Given the description of an element on the screen output the (x, y) to click on. 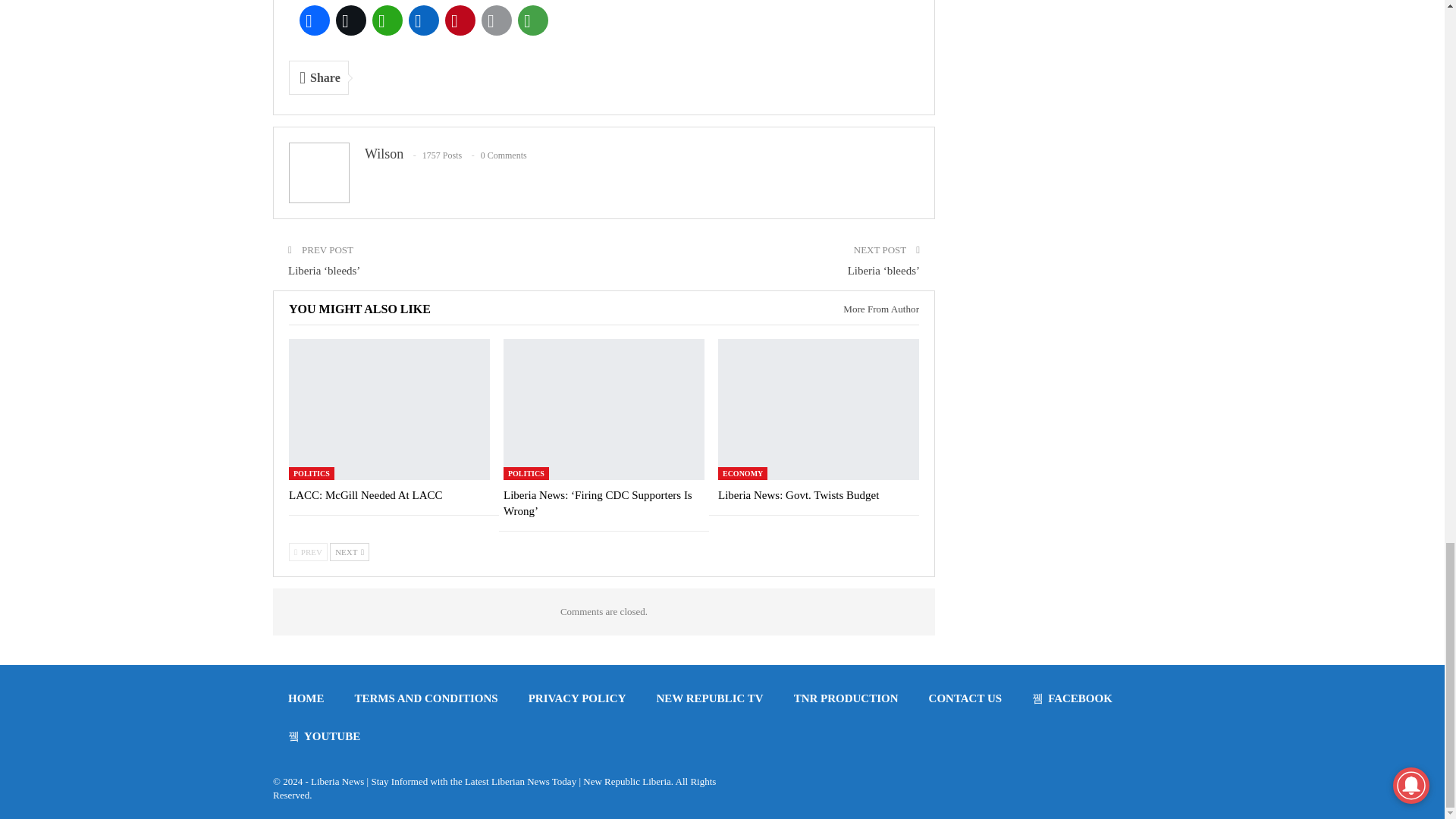
WhatsApp (387, 20)
LinkedIn (424, 20)
Facebook (315, 20)
